Given the description of an element on the screen output the (x, y) to click on. 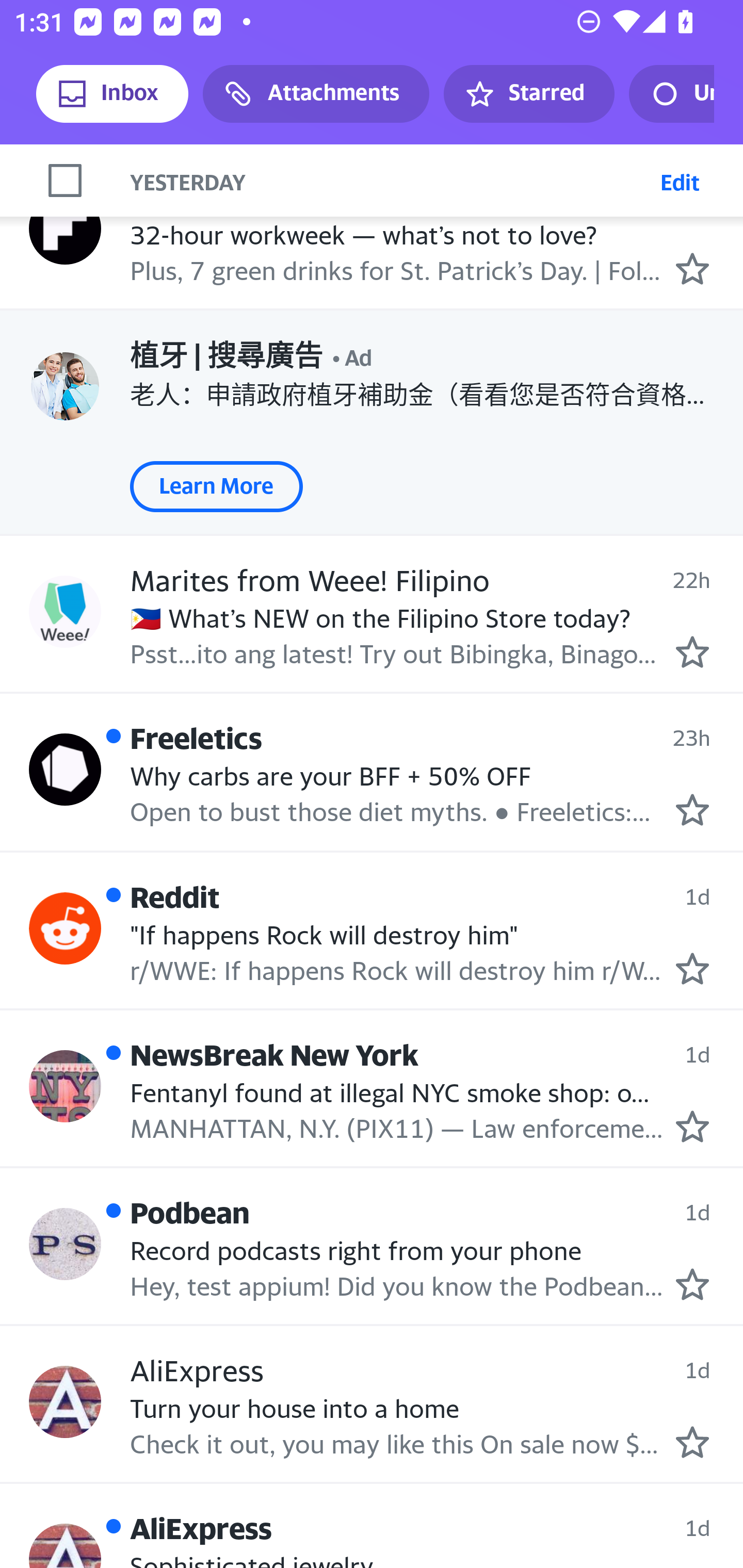
Attachments (315, 93)
Starred (528, 93)
Mark as starred. (692, 268)
Profile
Marites from Weee! Filipino (64, 611)
Mark as starred. (692, 651)
Profile
Freeletics (64, 769)
Mark as starred. (692, 809)
Profile
Reddit (64, 928)
Mark as starred. (692, 968)
Profile
NewsBreak New York (64, 1086)
Mark as starred. (692, 1126)
Profile
Podbean (64, 1243)
Mark as starred. (692, 1284)
Profile
AliExpress (64, 1401)
Mark as starred. (692, 1441)
